Given the description of an element on the screen output the (x, y) to click on. 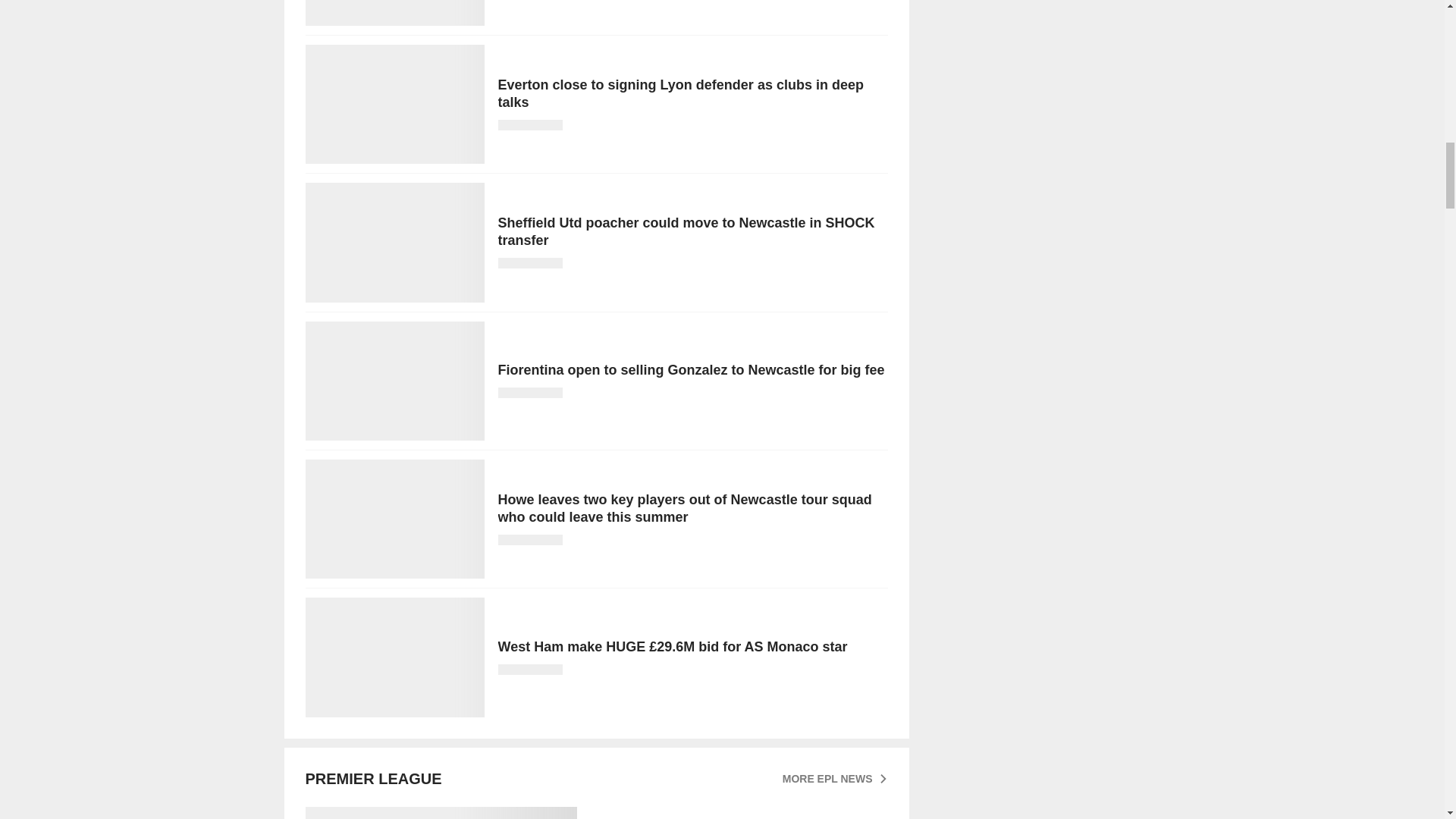
MORE EPL NEWS (835, 778)
Fiorentina open to selling Gonzalez to Newcastle for big fee (595, 380)
Fiorentina open to selling Gonzalez to Newcastle for big fee (595, 380)
